Given the description of an element on the screen output the (x, y) to click on. 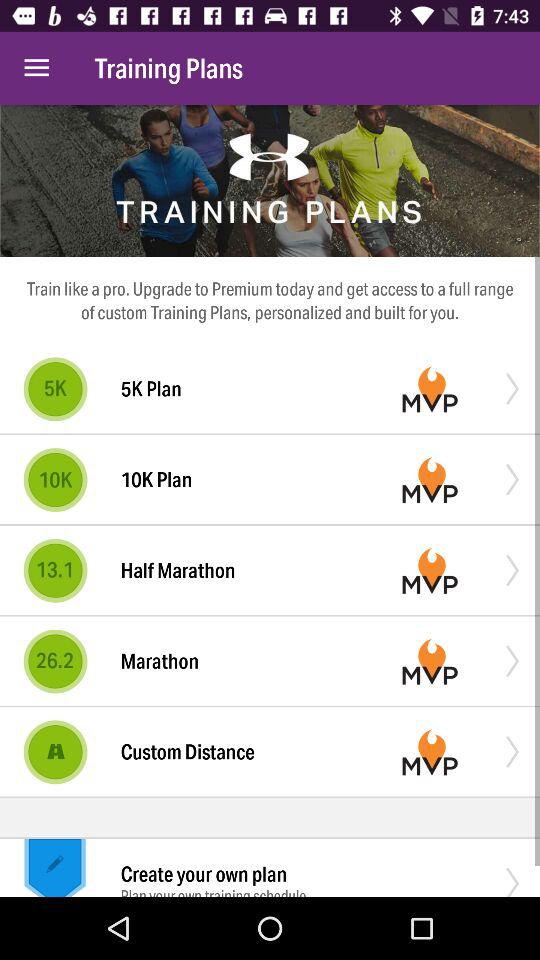
click the icon to the left of the training plans item (36, 68)
